Given the description of an element on the screen output the (x, y) to click on. 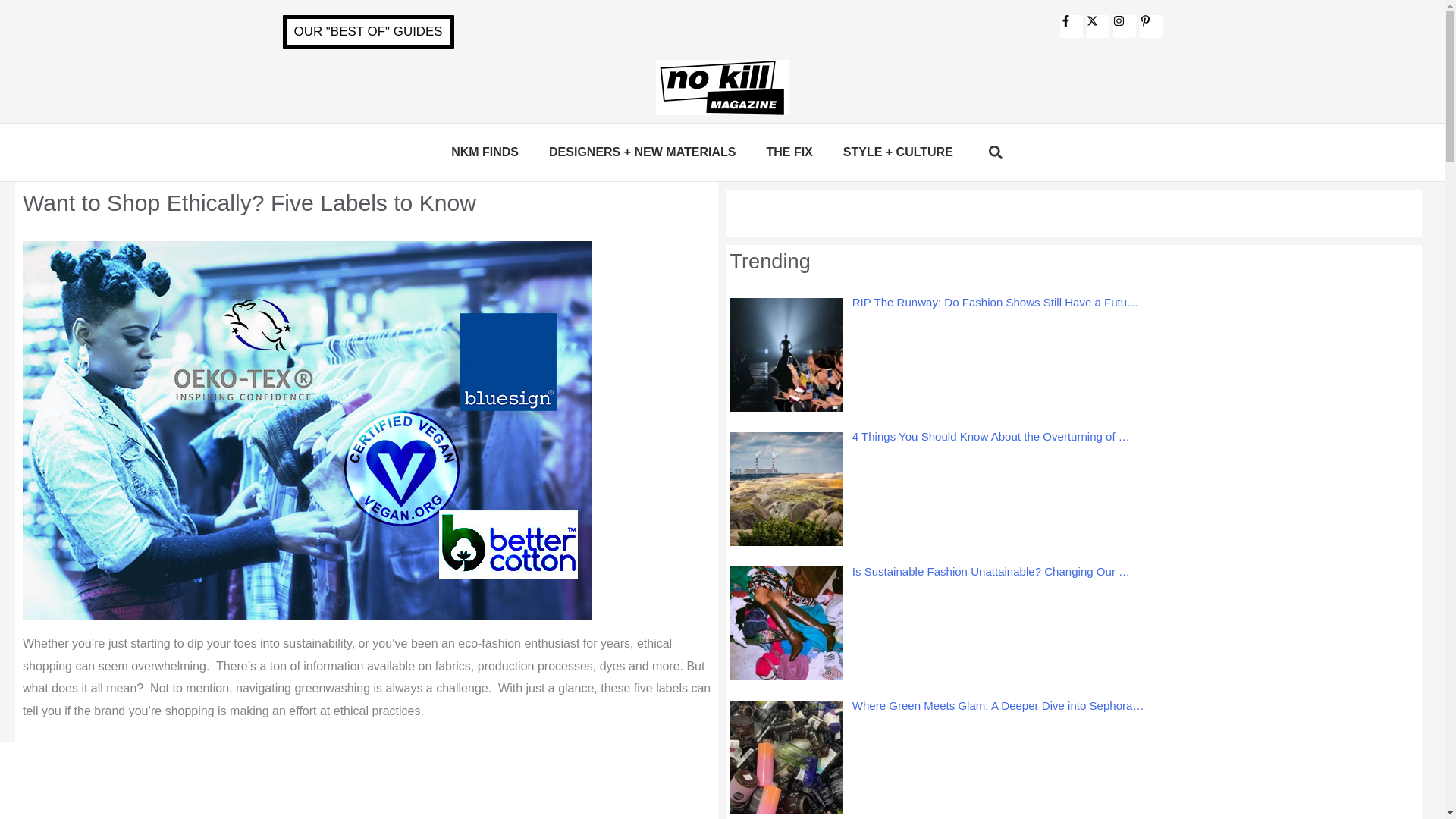
Pinterest-p (1149, 26)
NKM FINDS (484, 152)
X-twitter (1097, 26)
THE FIX (789, 152)
OUR "BEST OF" GUIDES (367, 31)
Facebook-f (1071, 26)
Instagram (1124, 26)
